Given the description of an element on the screen output the (x, y) to click on. 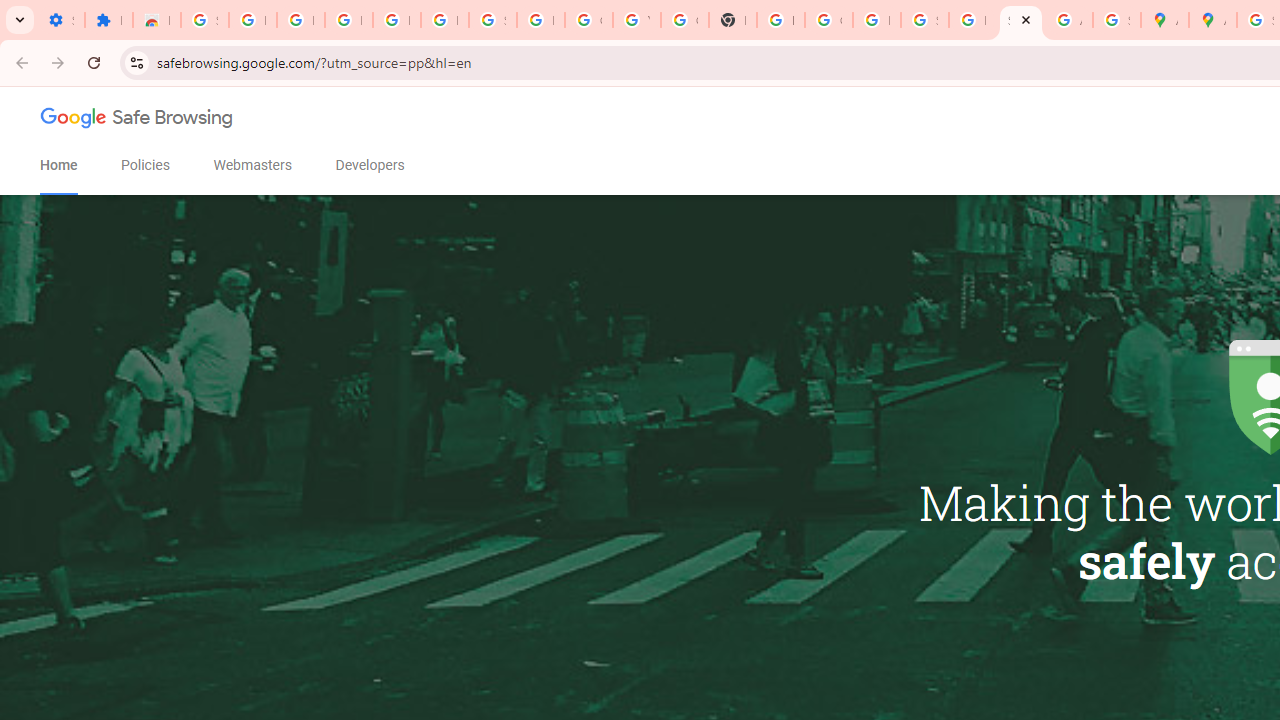
Sign in - Google Accounts (492, 20)
Home (58, 165)
Safety in Our Products - Google Safety Center (1116, 20)
Learn how to find your photos - Google Photos Help (396, 20)
